Given the description of an element on the screen output the (x, y) to click on. 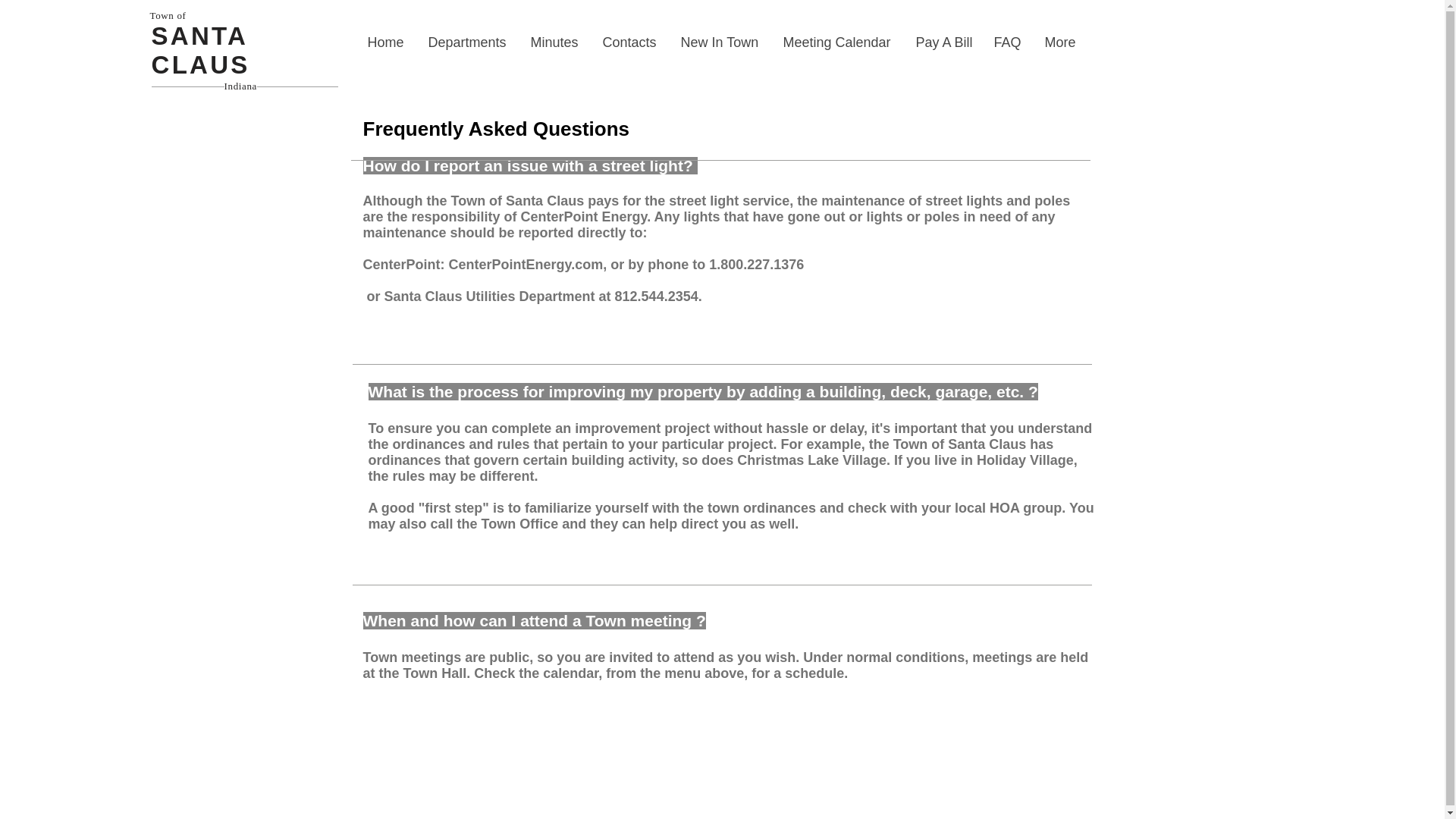
Pay A Bill (942, 42)
Home (386, 42)
FAQ (1006, 42)
Contacts (628, 42)
